Given the description of an element on the screen output the (x, y) to click on. 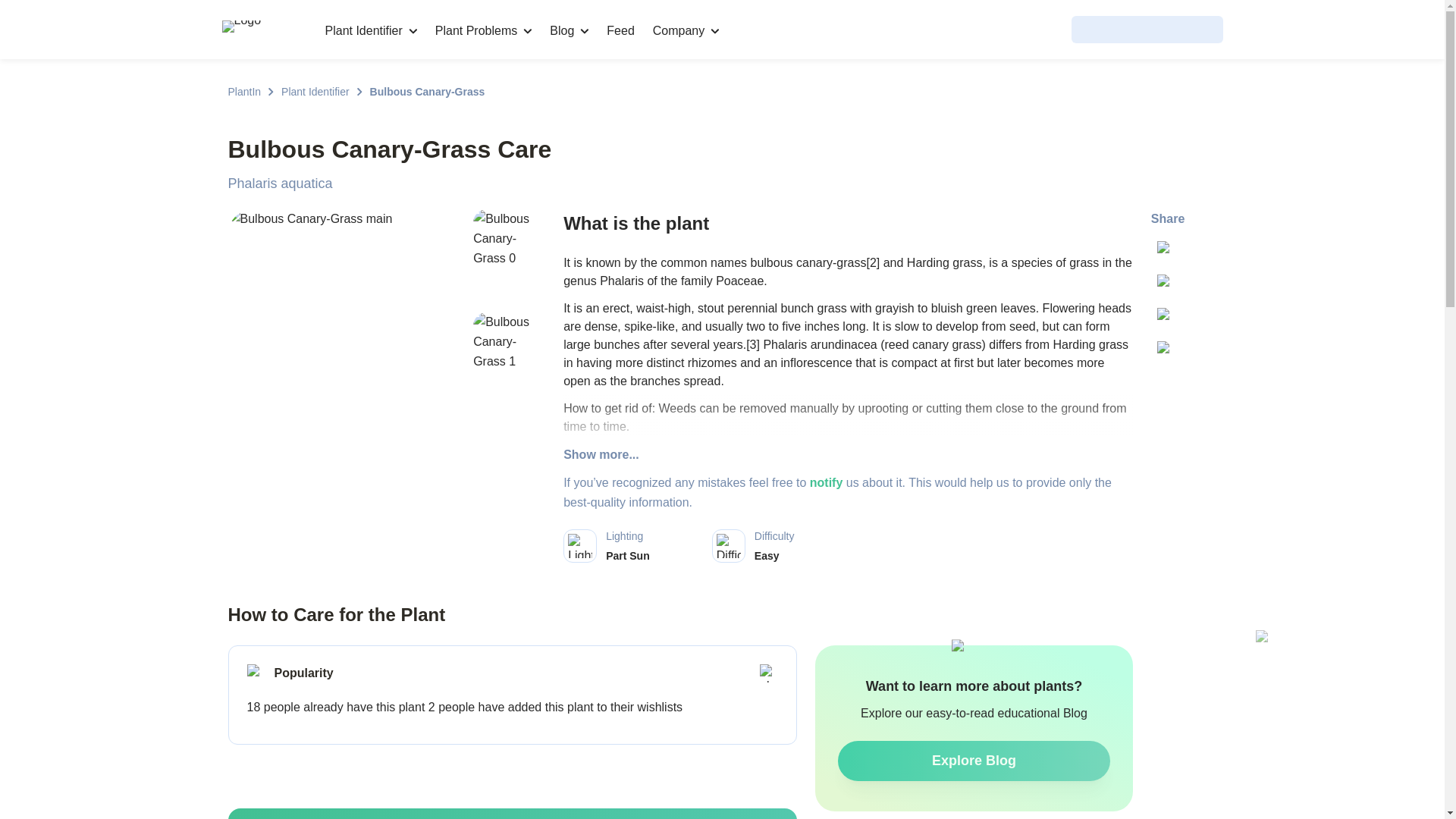
Copy to clipboard (1167, 351)
Plant Identifier (370, 31)
Plant Problems (483, 31)
Popularity (255, 673)
PlantIn (243, 91)
Explore Blog (973, 761)
Plant Identifier (315, 91)
Twitter (1167, 251)
Home (261, 29)
Company (685, 31)
Difficulty (728, 545)
Pinterest (1167, 318)
Facebook (1167, 284)
Plant Identifier (315, 91)
